Given the description of an element on the screen output the (x, y) to click on. 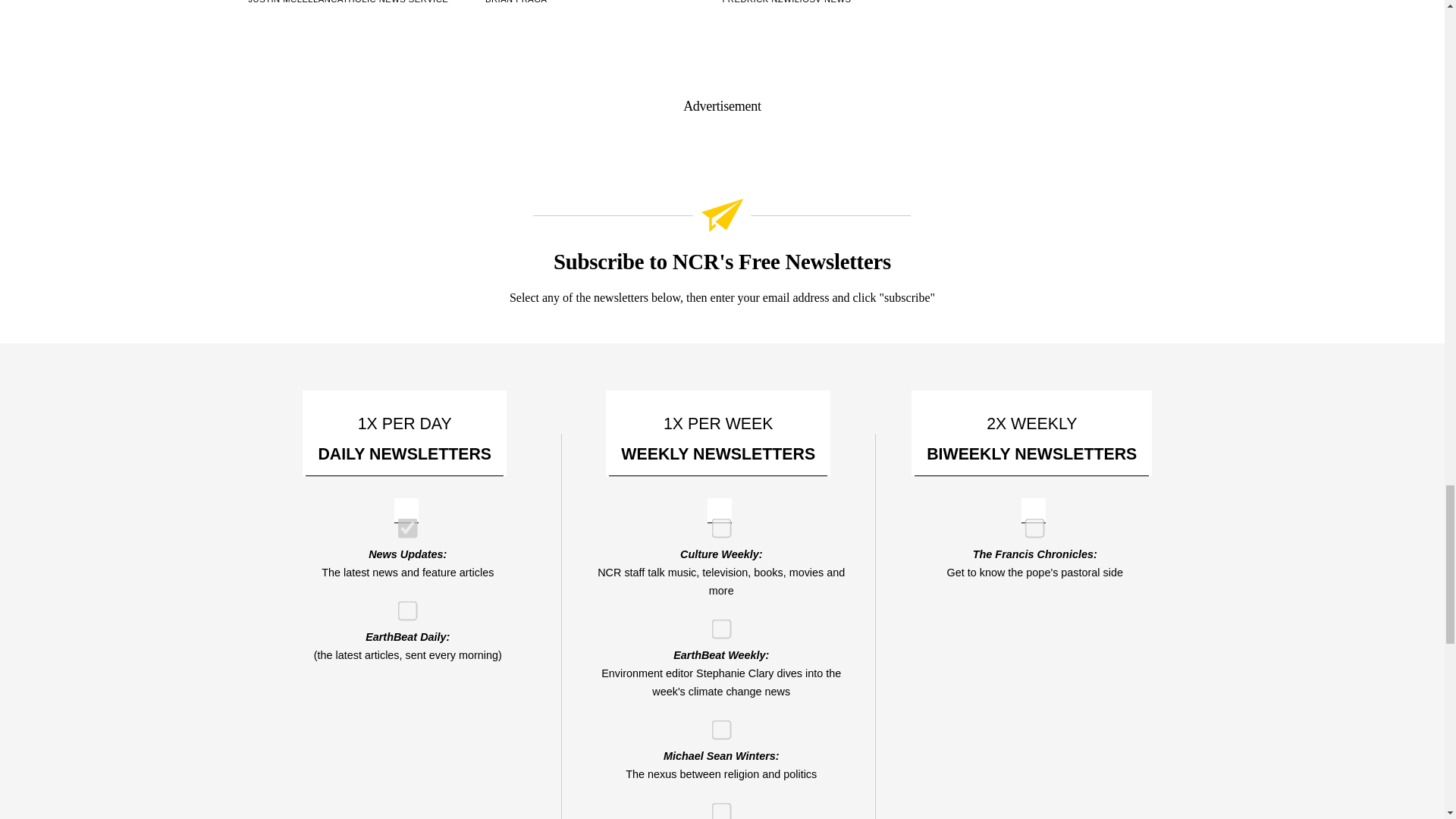
e536af3ae2 (715, 522)
3b77a4581e (715, 724)
f86221b965 (402, 522)
efa1b974a2 (402, 605)
13ede0f40e (715, 807)
ef6500f2d3 (715, 623)
9b73e2ca65 (1030, 522)
